Given the description of an element on the screen output the (x, y) to click on. 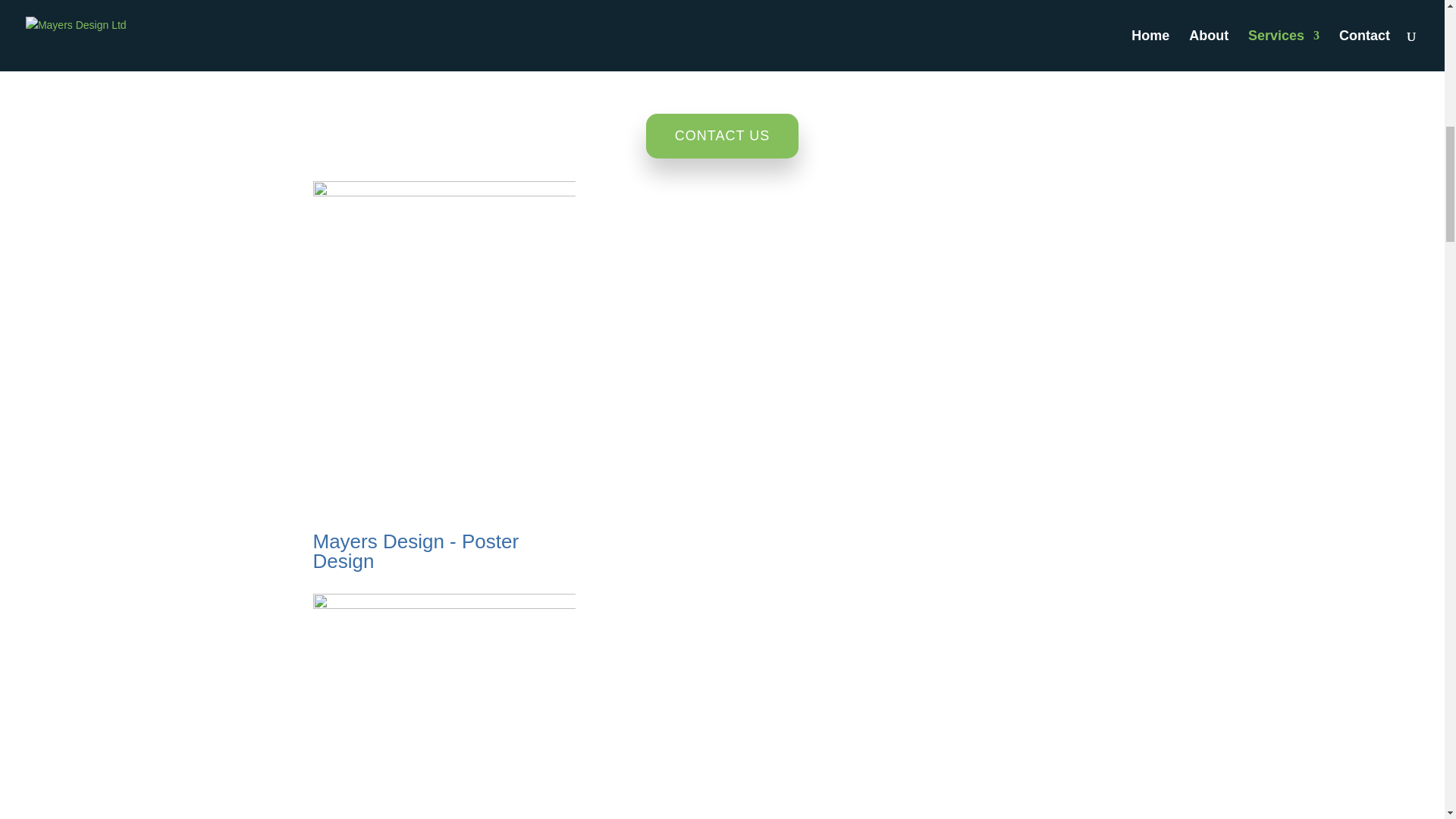
CONTACT US (721, 135)
